Given the description of an element on the screen output the (x, y) to click on. 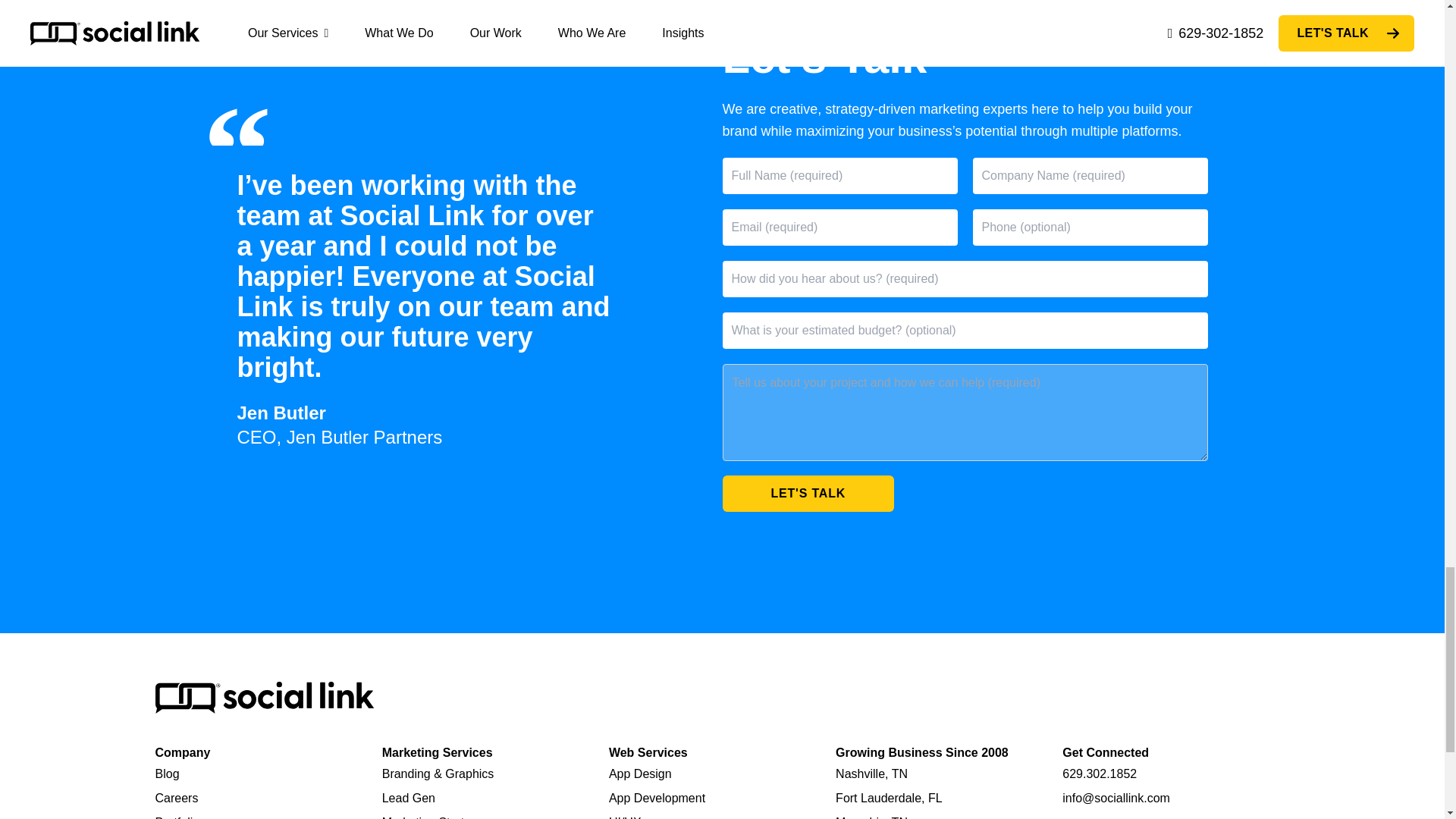
Careers (176, 797)
App Design (639, 773)
App Development (656, 797)
Lead Gen (408, 797)
Marketing Strategy (432, 817)
LET'S TALK (807, 493)
Blog (166, 773)
Portfolio (176, 817)
